Given the description of an element on the screen output the (x, y) to click on. 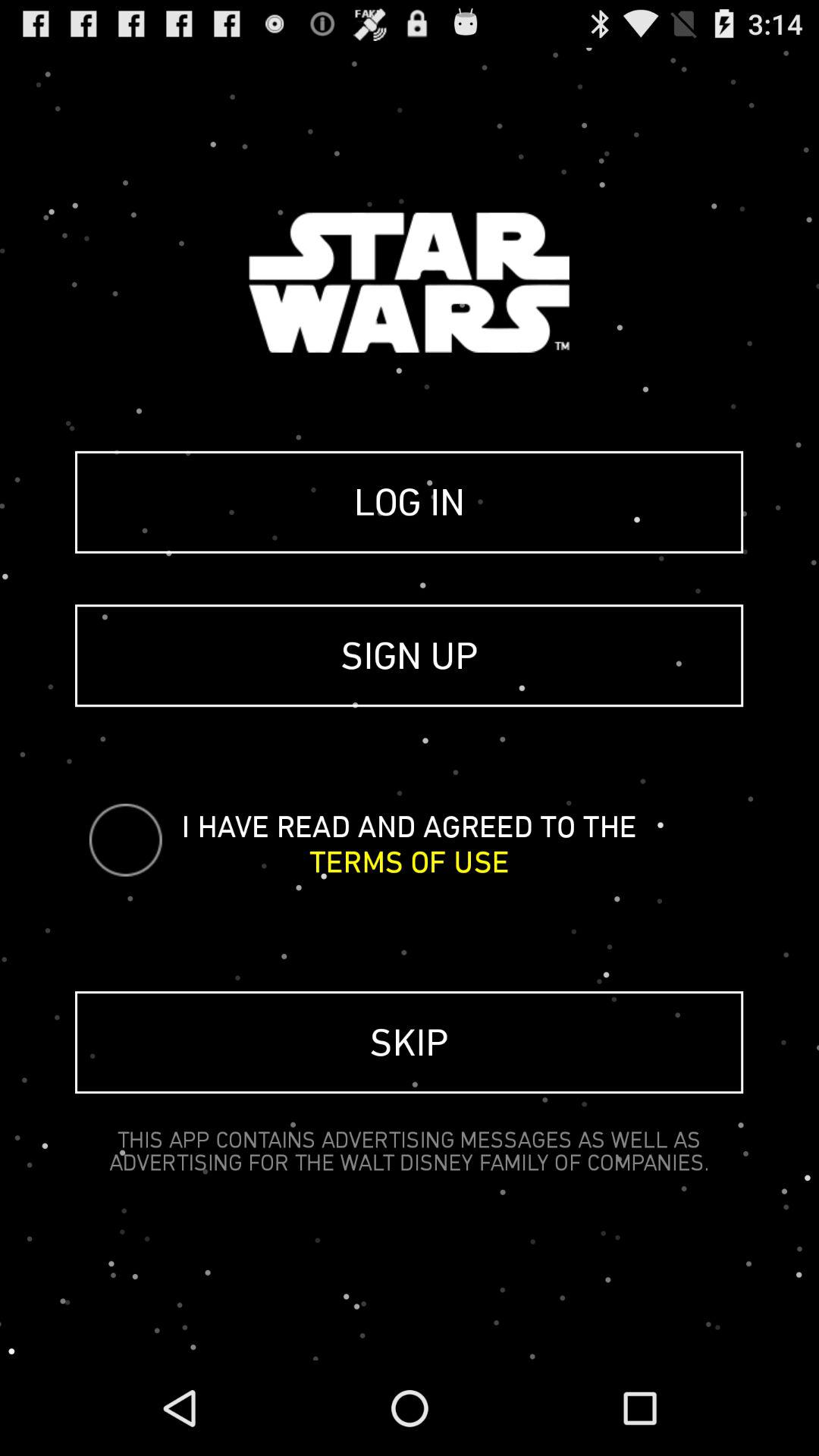
select the icon above sign up icon (409, 502)
